Given the description of an element on the screen output the (x, y) to click on. 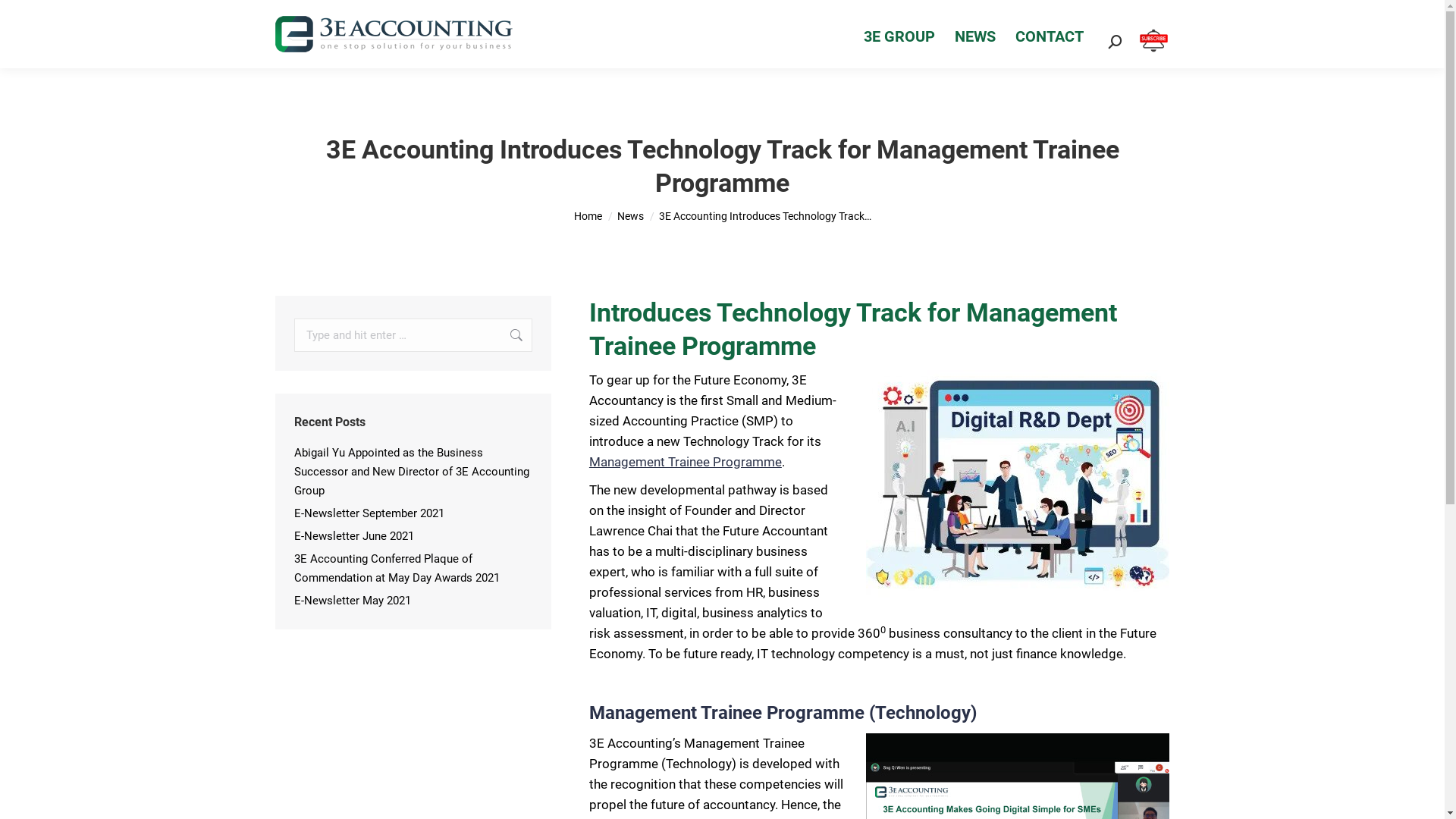
Subscribe to Global Newsletter Element type: hover (1153, 49)
CONTACT Element type: text (1049, 34)
Management Trainee Programme Element type: text (685, 461)
NEWS Element type: text (974, 34)
Go! Element type: text (23, 16)
Home Element type: text (587, 216)
3E GROUP Element type: text (898, 34)
E-Newsletter September 2021 Element type: text (369, 513)
E-Newsletter May 2021 Element type: text (352, 600)
News Element type: text (630, 216)
Go! Element type: text (508, 334)
E-Newsletter June 2021 Element type: text (354, 536)
